Given the description of an element on the screen output the (x, y) to click on. 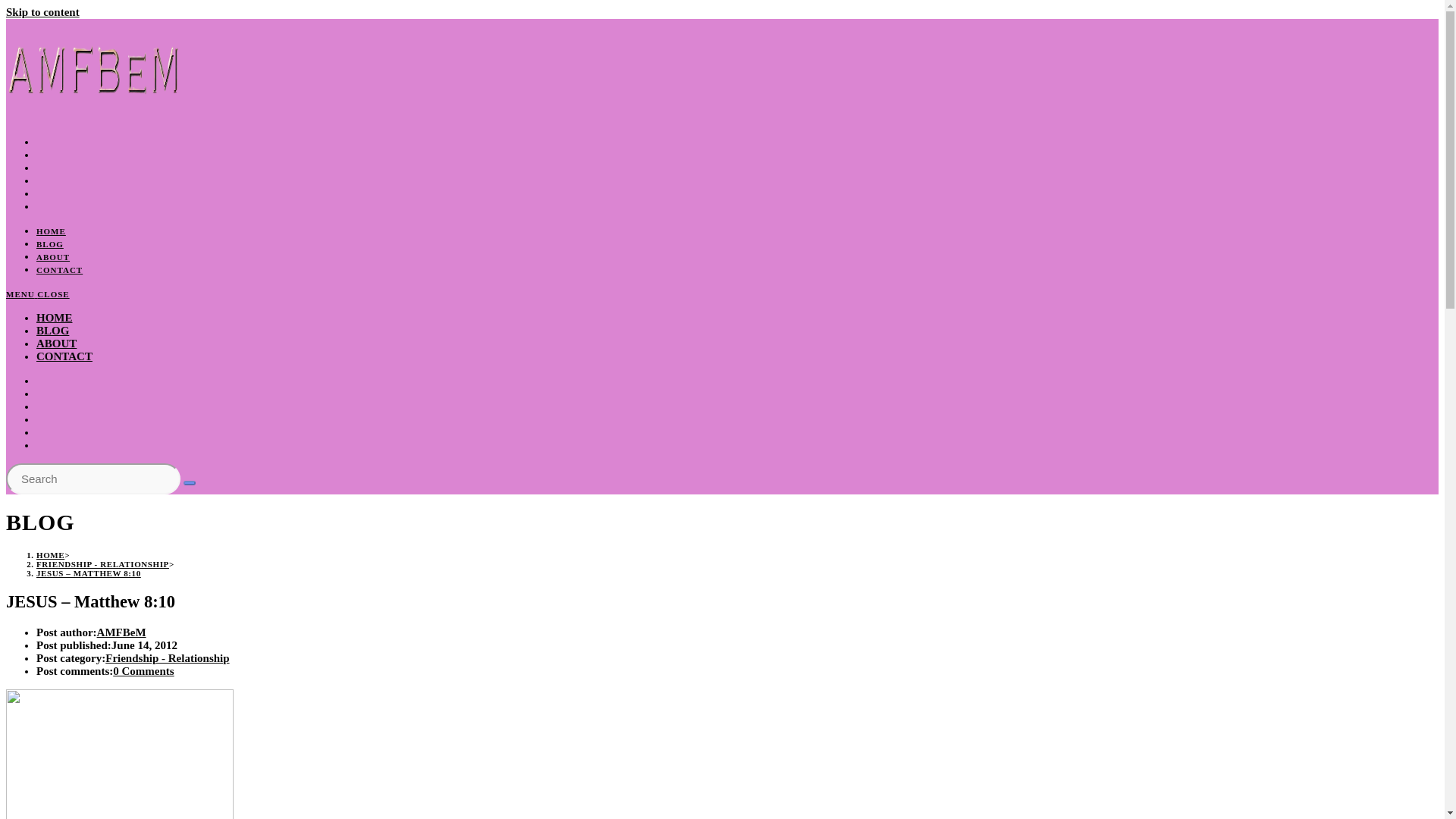
CONTACT (59, 269)
AMFBeM (122, 632)
FRIENDSHIP - RELATIONSHIP (102, 563)
Friendship - Relationship (166, 657)
HOME (54, 317)
ABOUT (52, 256)
ABOUT (56, 343)
CONTACT (64, 356)
BLOG (52, 330)
HOME (50, 554)
Skip to content (42, 11)
MENU CLOSE (37, 293)
0 Comments (143, 671)
HOME (50, 230)
BLOG (50, 243)
